Given the description of an element on the screen output the (x, y) to click on. 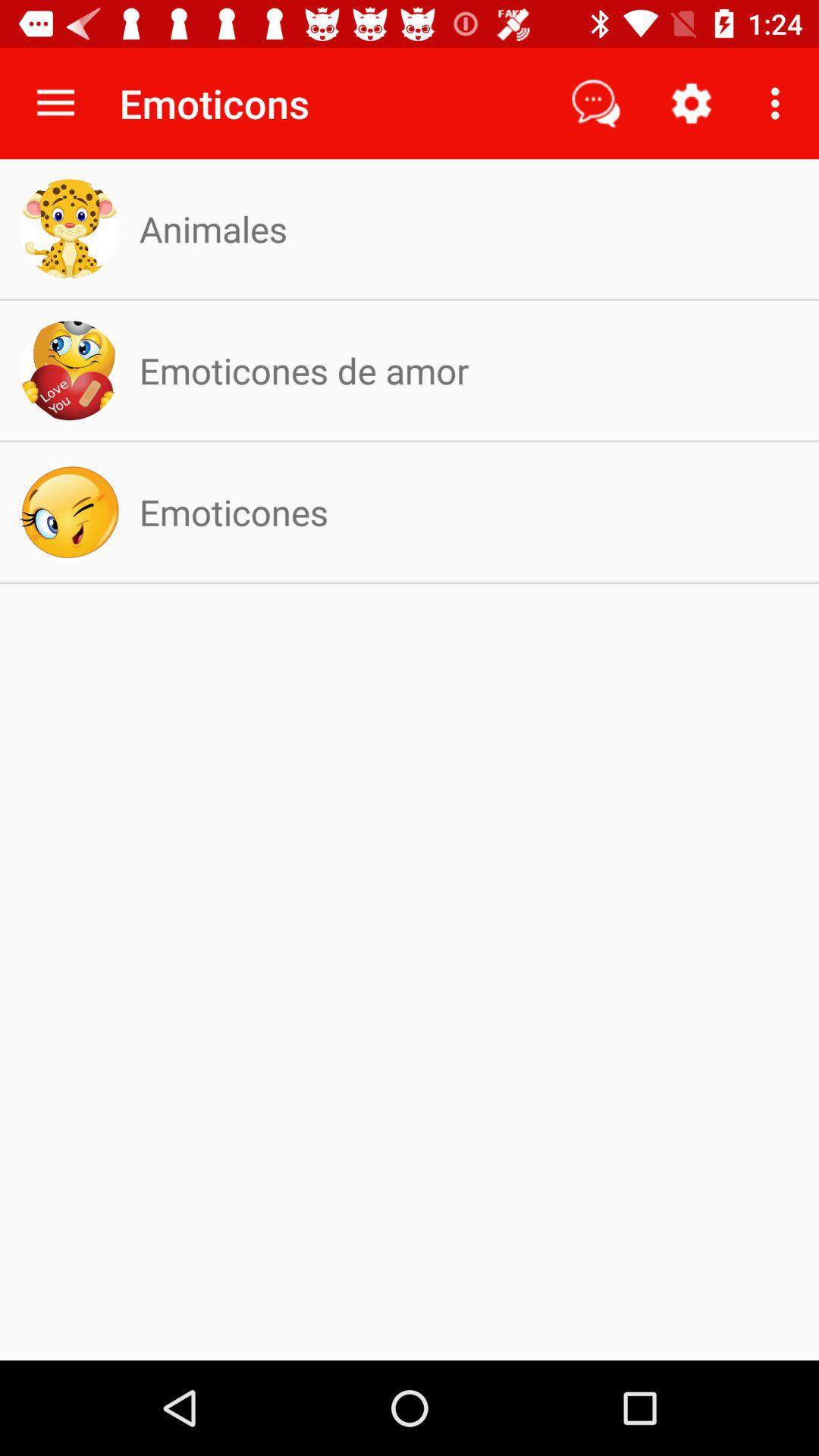
choose icon next to the emoticons icon (55, 103)
